Given the description of an element on the screen output the (x, y) to click on. 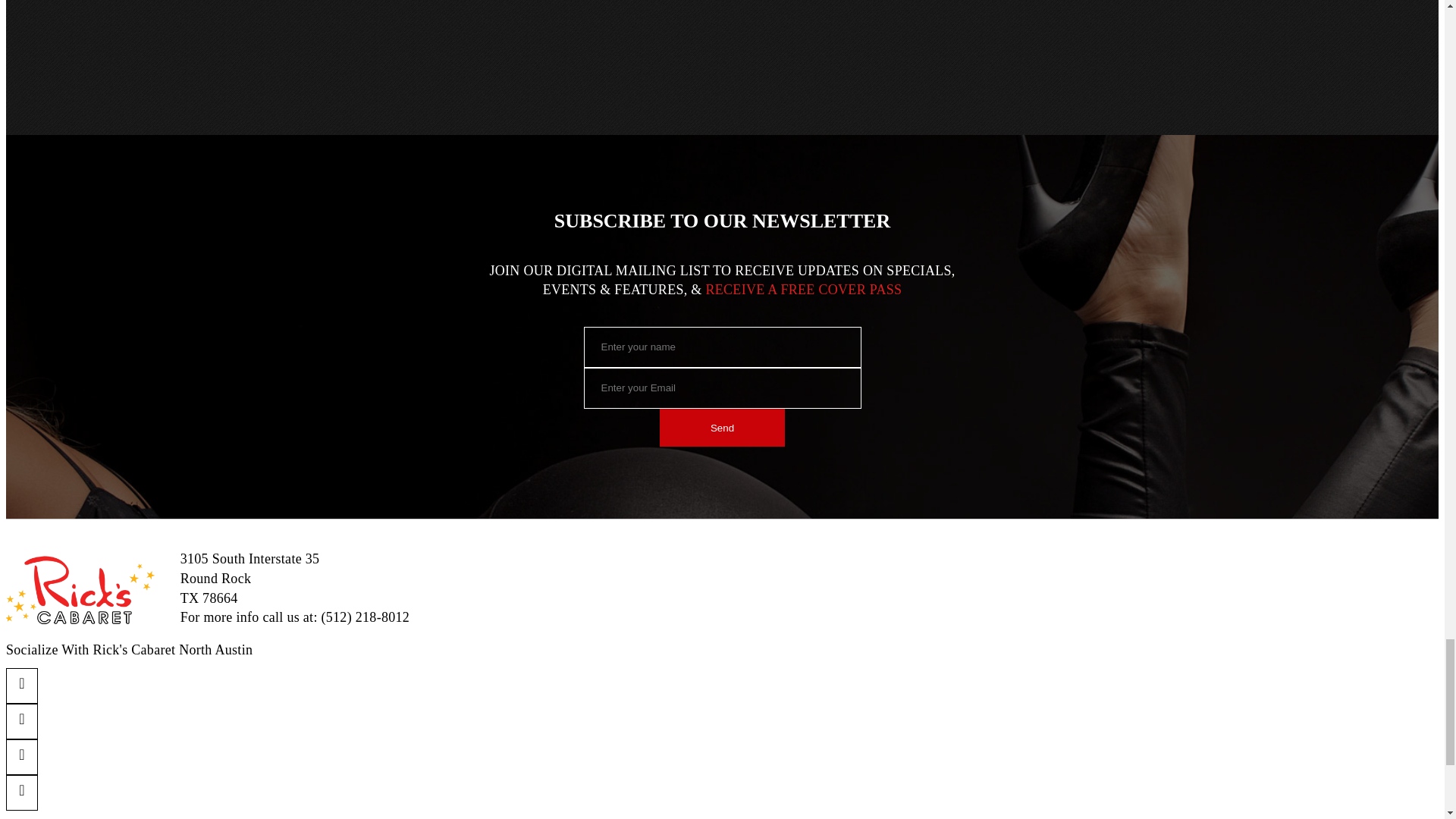
Send (721, 427)
Send (721, 427)
